Given the description of an element on the screen output the (x, y) to click on. 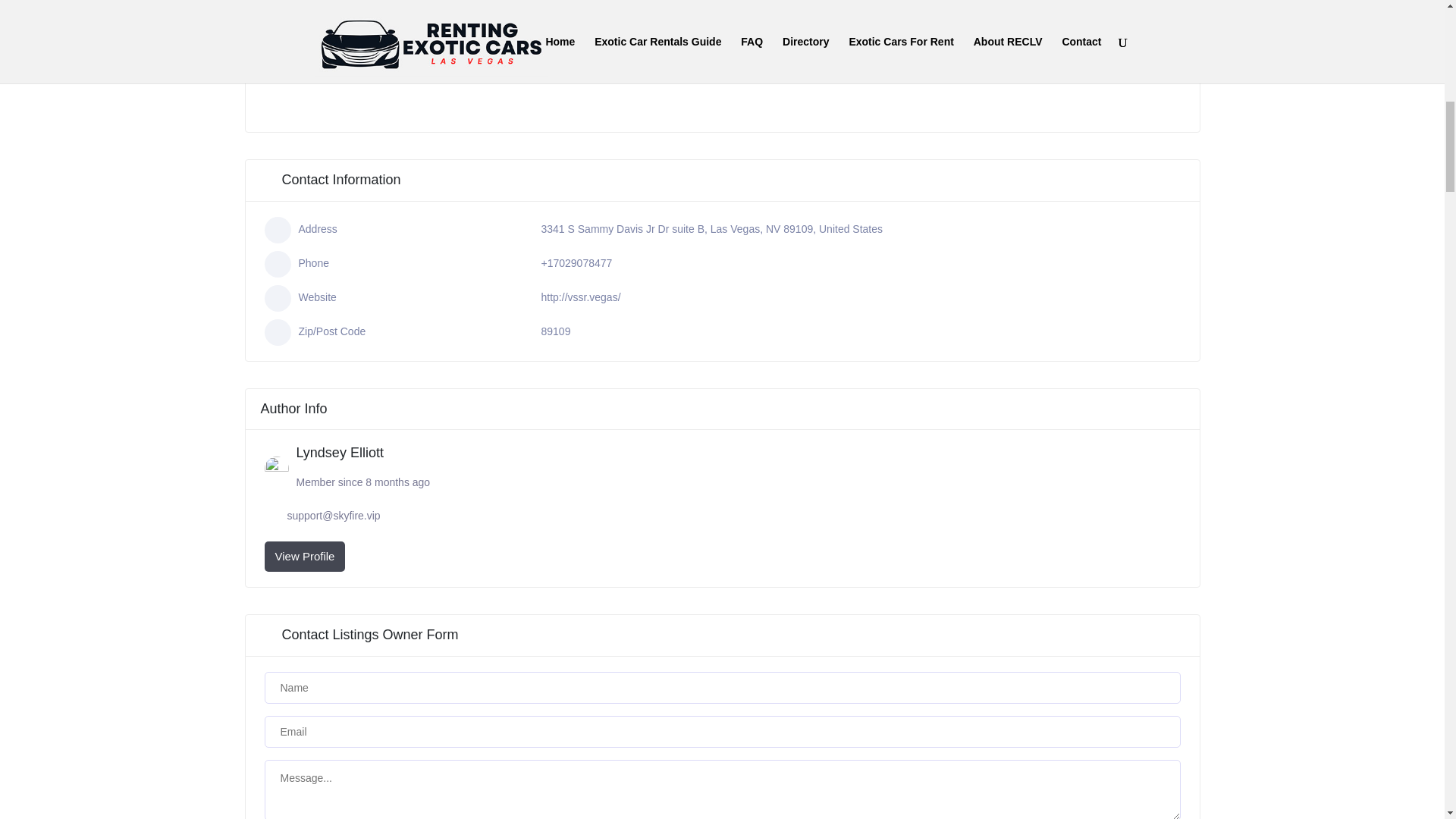
View Profile (304, 556)
